Given the description of an element on the screen output the (x, y) to click on. 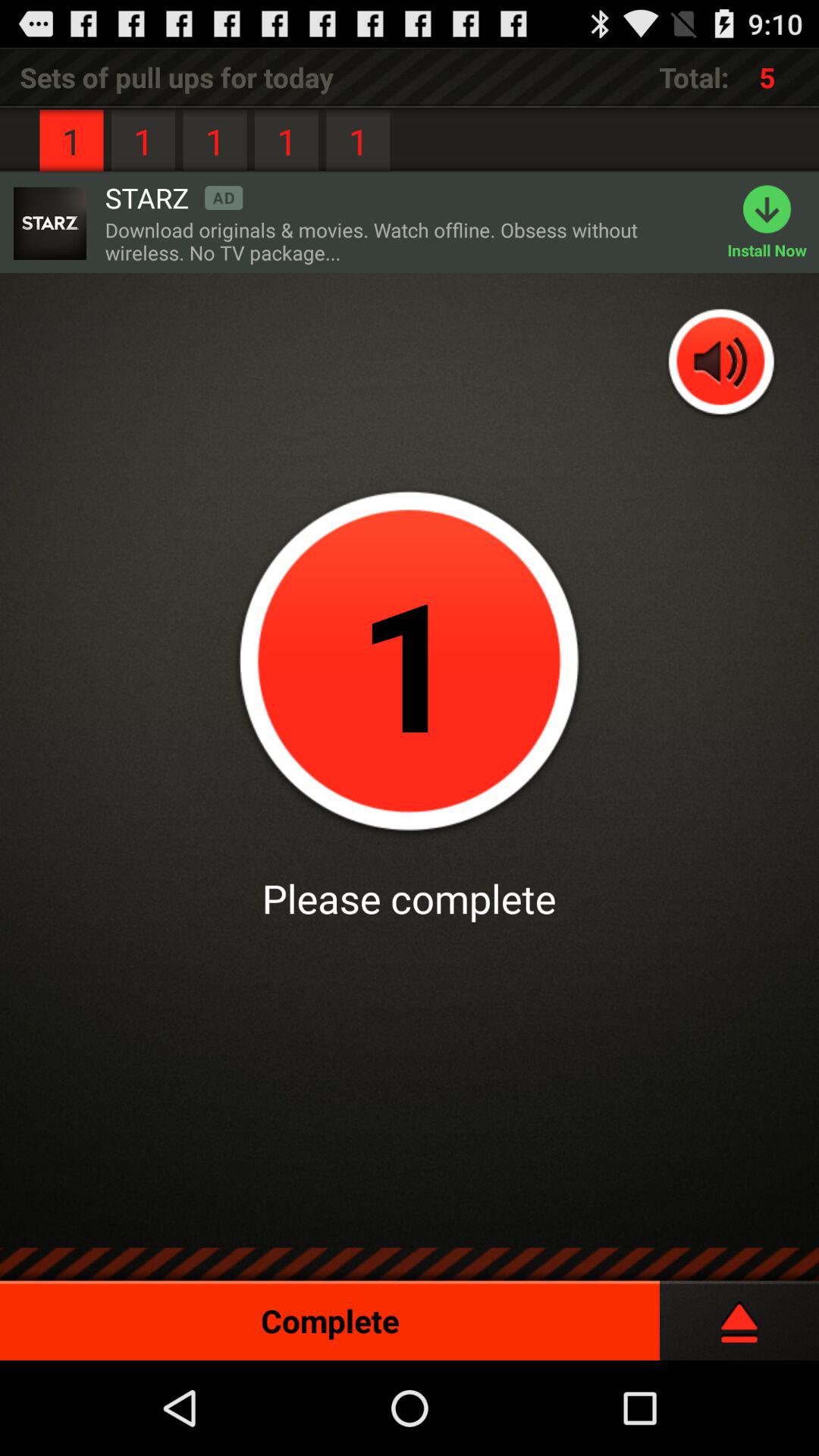
add/reduce volume (721, 363)
